Given the description of an element on the screen output the (x, y) to click on. 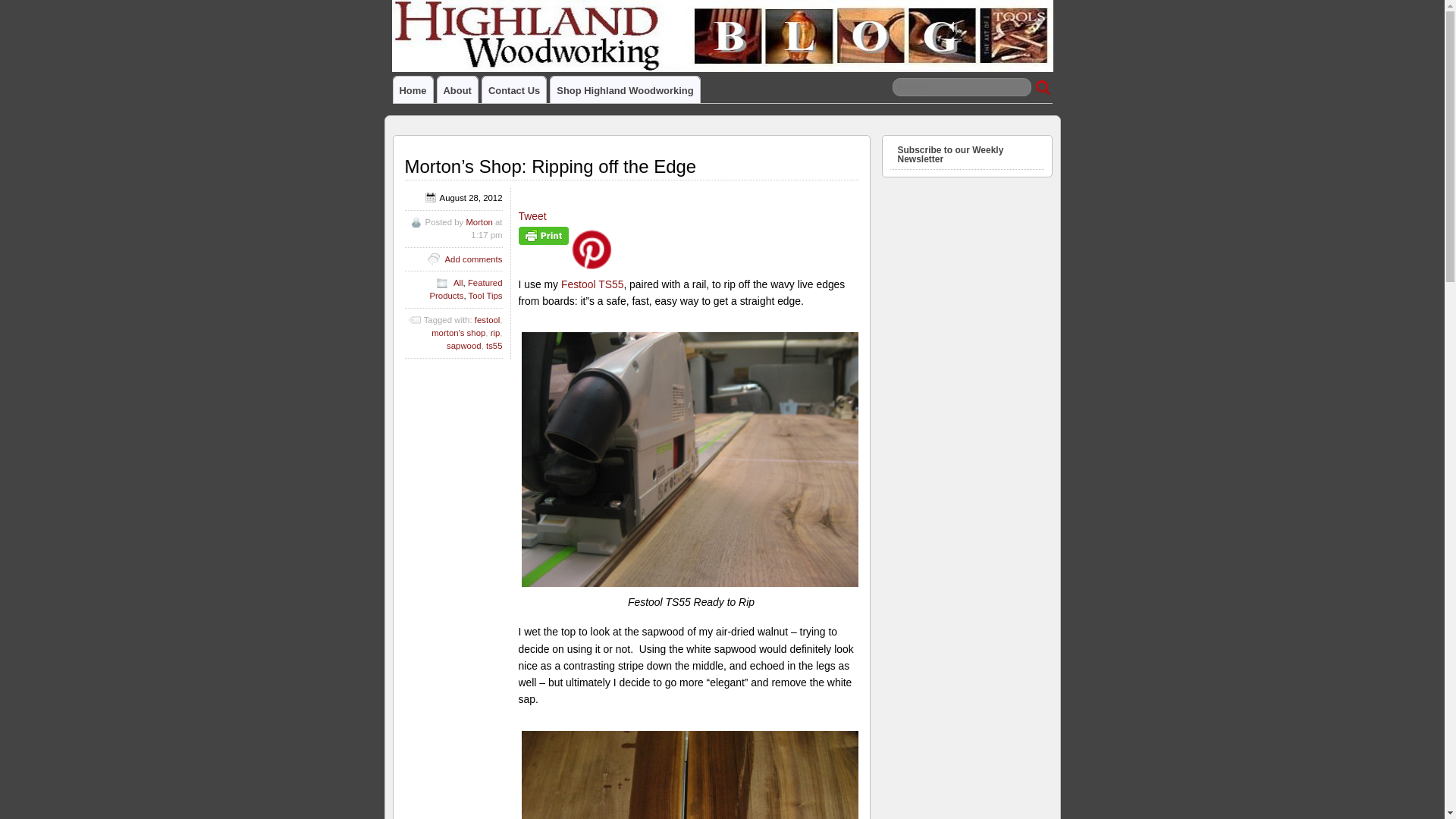
morton's shop (457, 332)
festool (487, 319)
Tweet (532, 215)
Festool TS55 (591, 284)
Tool Tips (485, 295)
Shop Highland Woodworking (624, 89)
Morton (478, 221)
About (456, 89)
Featured Products (465, 289)
Home (412, 89)
